Given the description of an element on the screen output the (x, y) to click on. 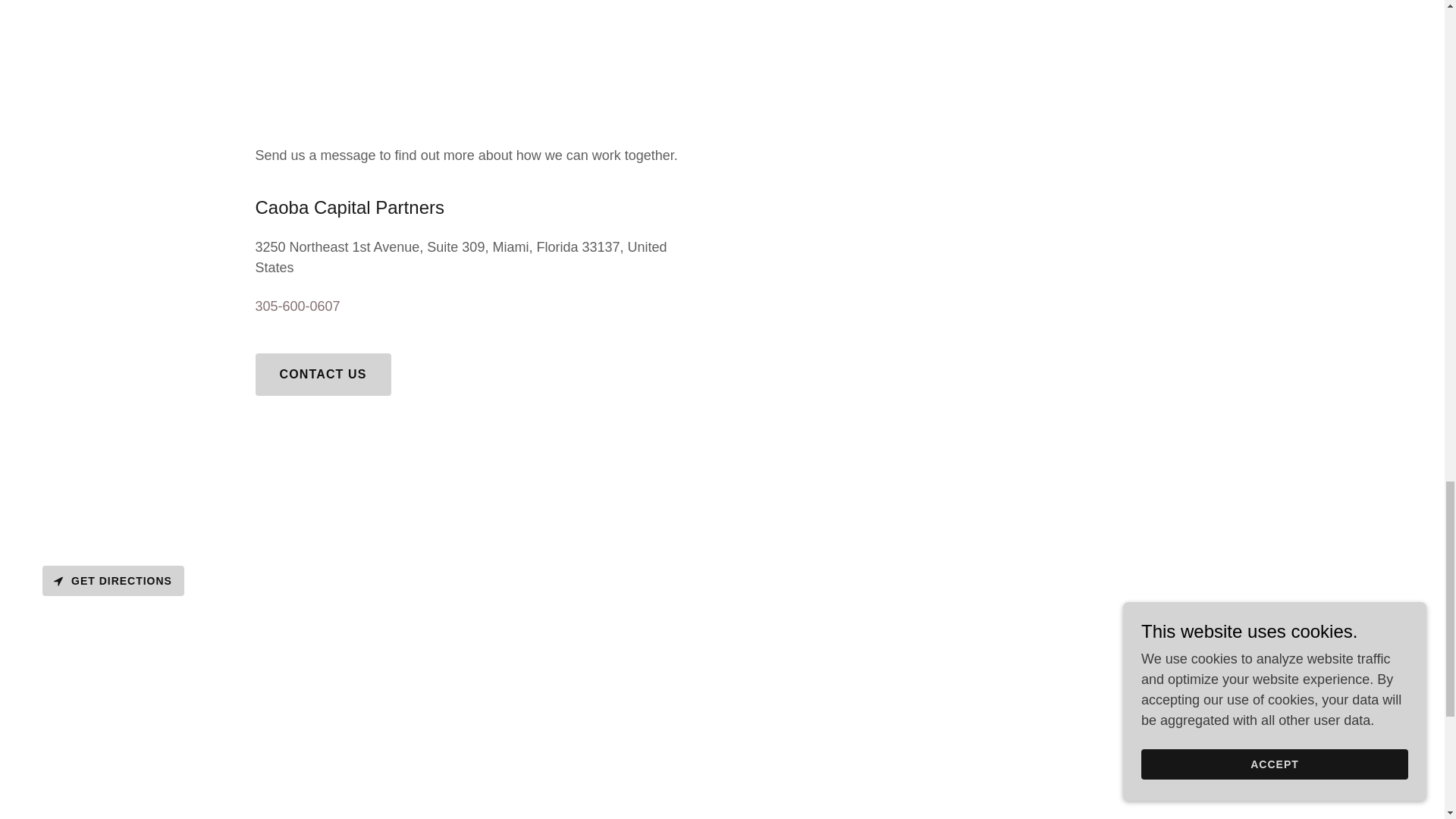
305-600-0607 (296, 305)
GET DIRECTIONS (113, 580)
CONTACT US (322, 373)
